Given the description of an element on the screen output the (x, y) to click on. 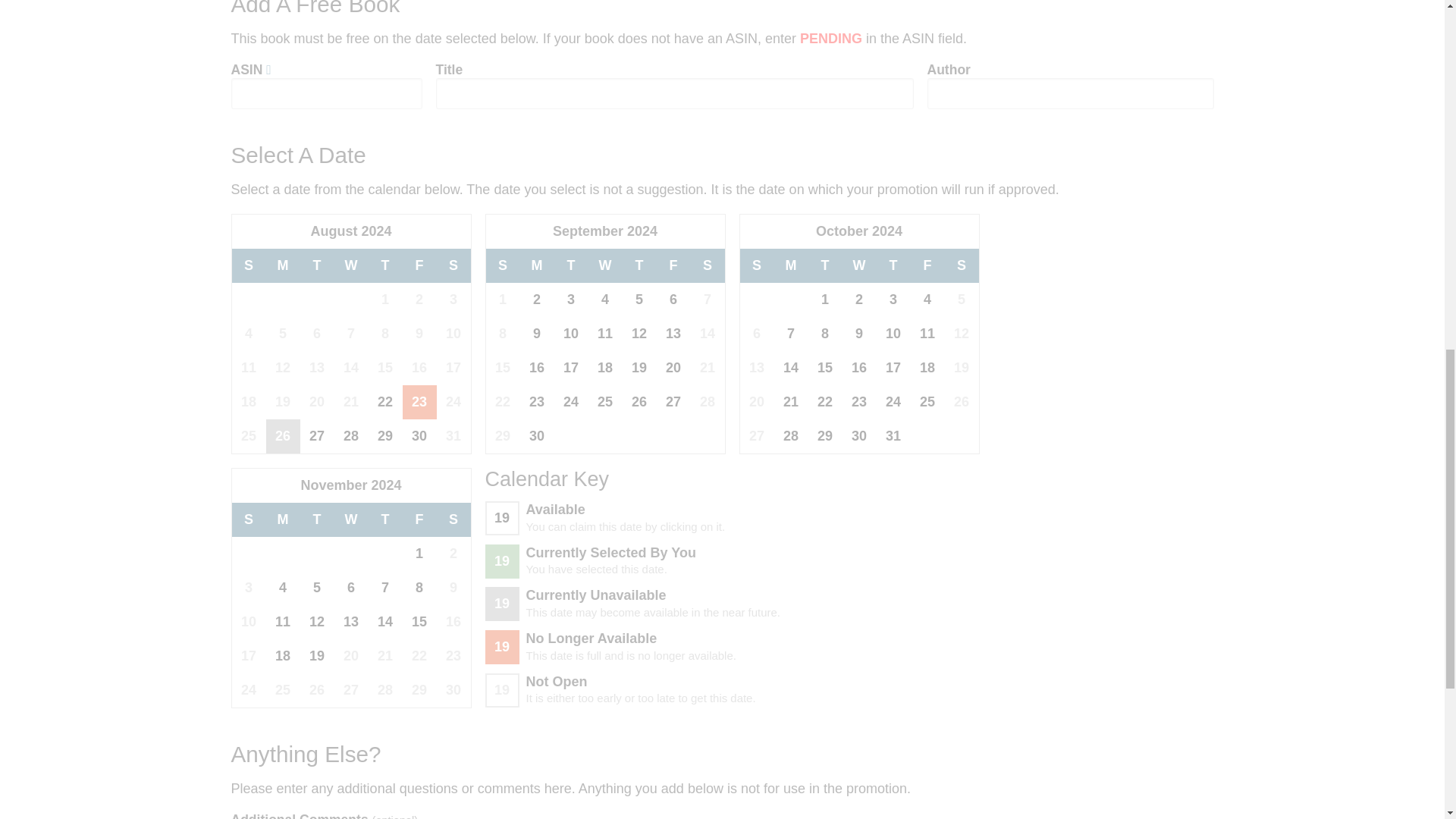
2 (858, 299)
27 (673, 401)
23 (536, 401)
3 (893, 299)
8 (825, 333)
19 (638, 367)
5 (638, 299)
22 (385, 401)
6 (673, 299)
29 (385, 436)
